Given the description of an element on the screen output the (x, y) to click on. 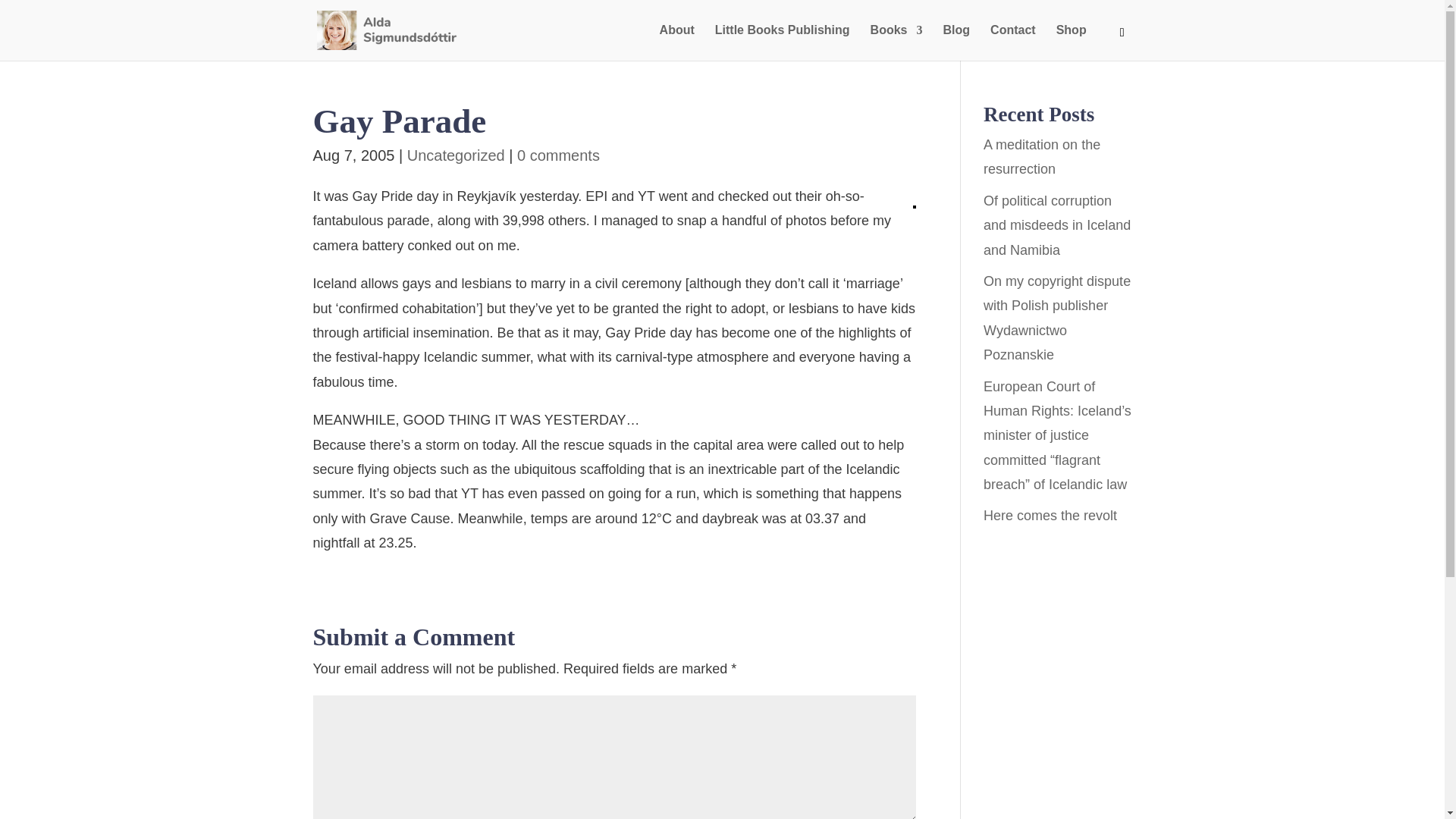
0 comments (557, 155)
Contact (1012, 42)
Uncategorized (456, 155)
About (676, 42)
Books (896, 42)
Little Books Publishing (782, 42)
